Given the description of an element on the screen output the (x, y) to click on. 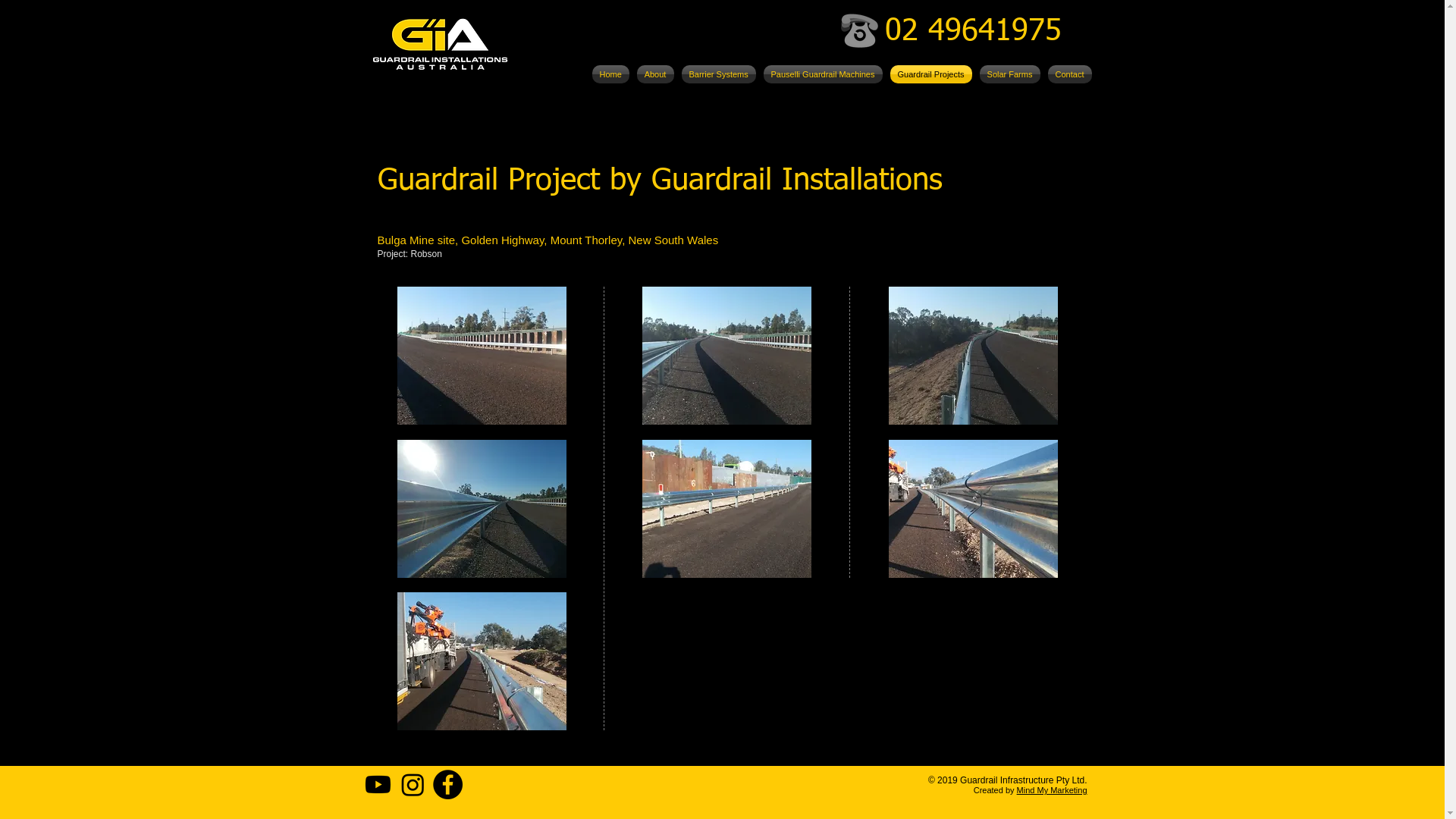
Solar Farms Element type: text (1009, 74)
Guardrail Projects Element type: text (930, 74)
About Element type: text (654, 74)
Pauselli Guardrail Machines Element type: text (822, 74)
Contact Element type: text (1067, 74)
Barrier Systems Element type: text (718, 74)
Mind My Marketing Element type: text (1051, 789)
Home Element type: text (610, 74)
